Given the description of an element on the screen output the (x, y) to click on. 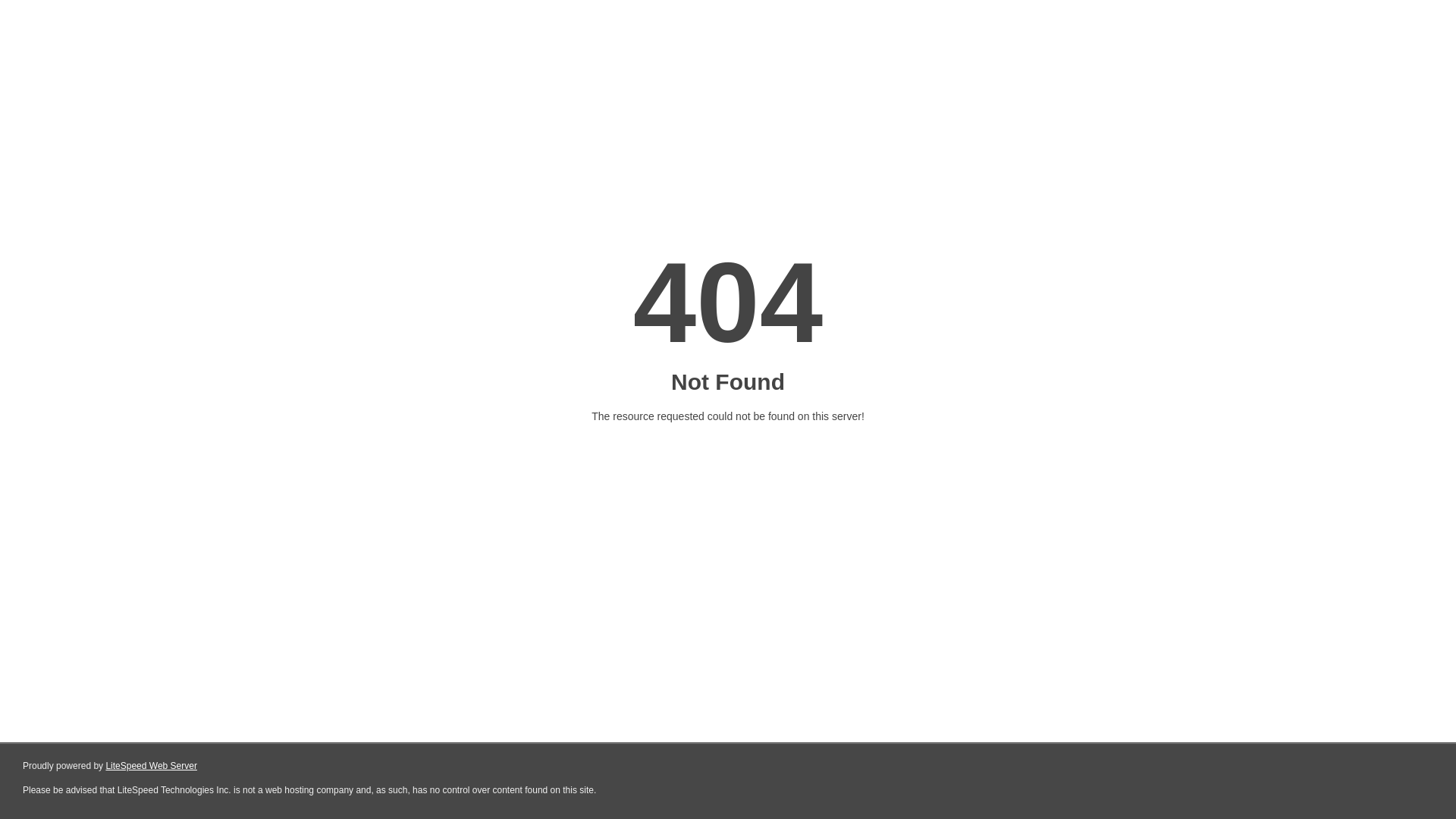
LiteSpeed Web Server Element type: text (151, 765)
